Given the description of an element on the screen output the (x, y) to click on. 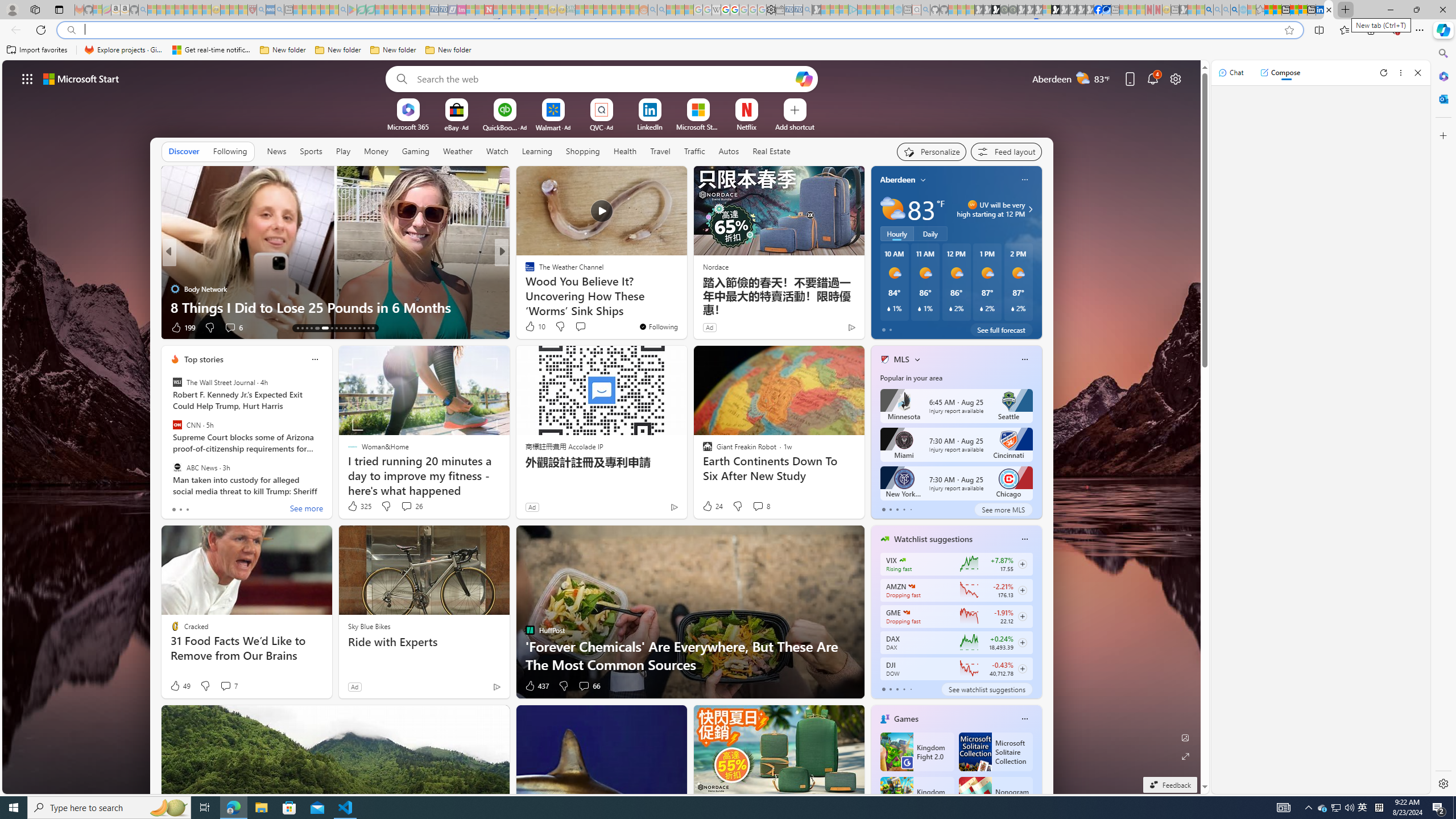
Kinda Frugal - MSN - Sleeping (616, 9)
12 Lies You Were Told About Space (684, 307)
AutomationID: tab-28 (372, 328)
View comments 66 Comment (583, 685)
View comments 2 Comment (576, 327)
The Wall Street Journal (176, 382)
View comments 7 Comment (225, 685)
The Independent (524, 270)
